Given the description of an element on the screen output the (x, y) to click on. 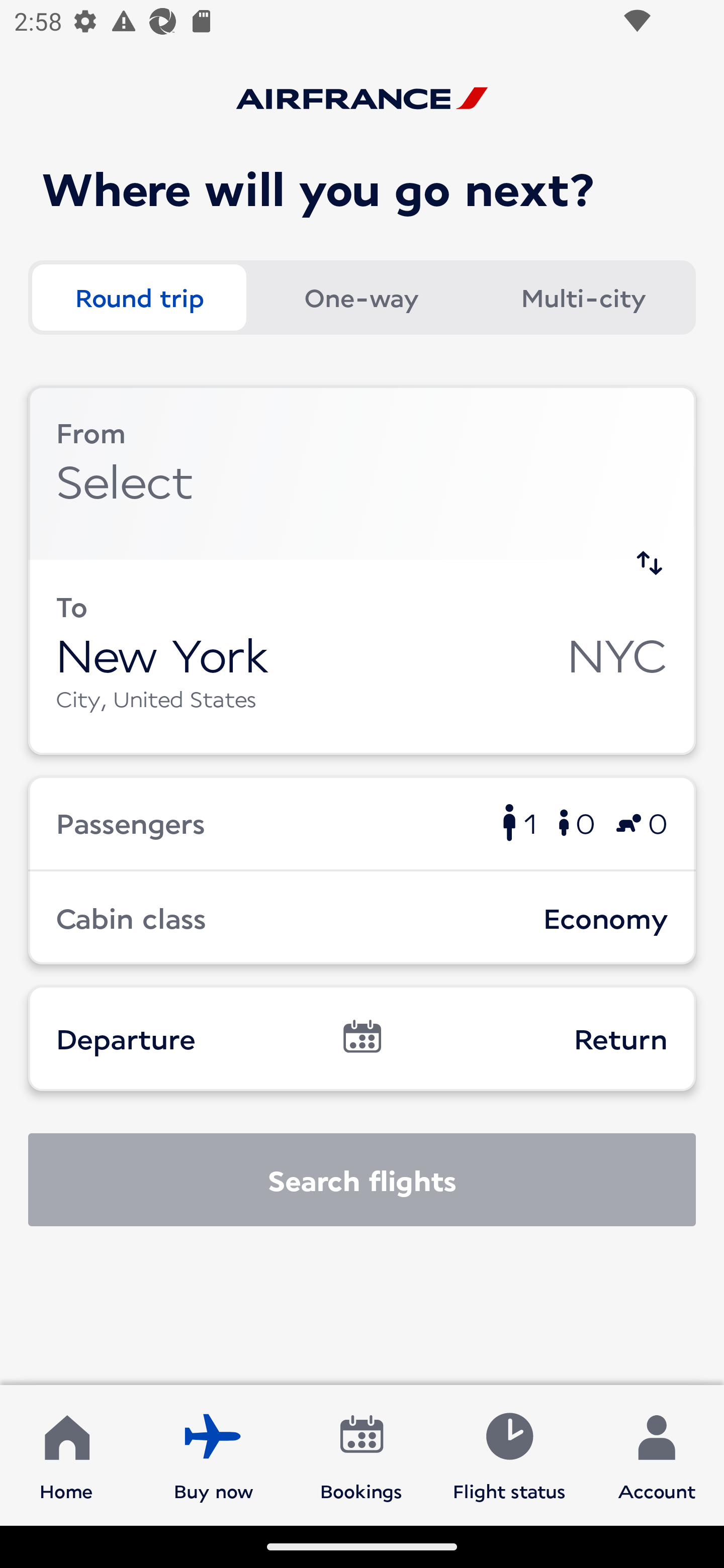
Round trip (139, 297)
One-way (361, 297)
Multi-city (583, 297)
From Select (361, 472)
To New York NYC City, United States (361, 656)
Passengers 1 0 0 (361, 822)
Cabin class Economy (361, 917)
Departure Return (361, 1038)
Search flights (361, 1179)
Home (66, 1454)
Bookings (361, 1454)
Flight status (509, 1454)
Account (657, 1454)
